Given the description of an element on the screen output the (x, y) to click on. 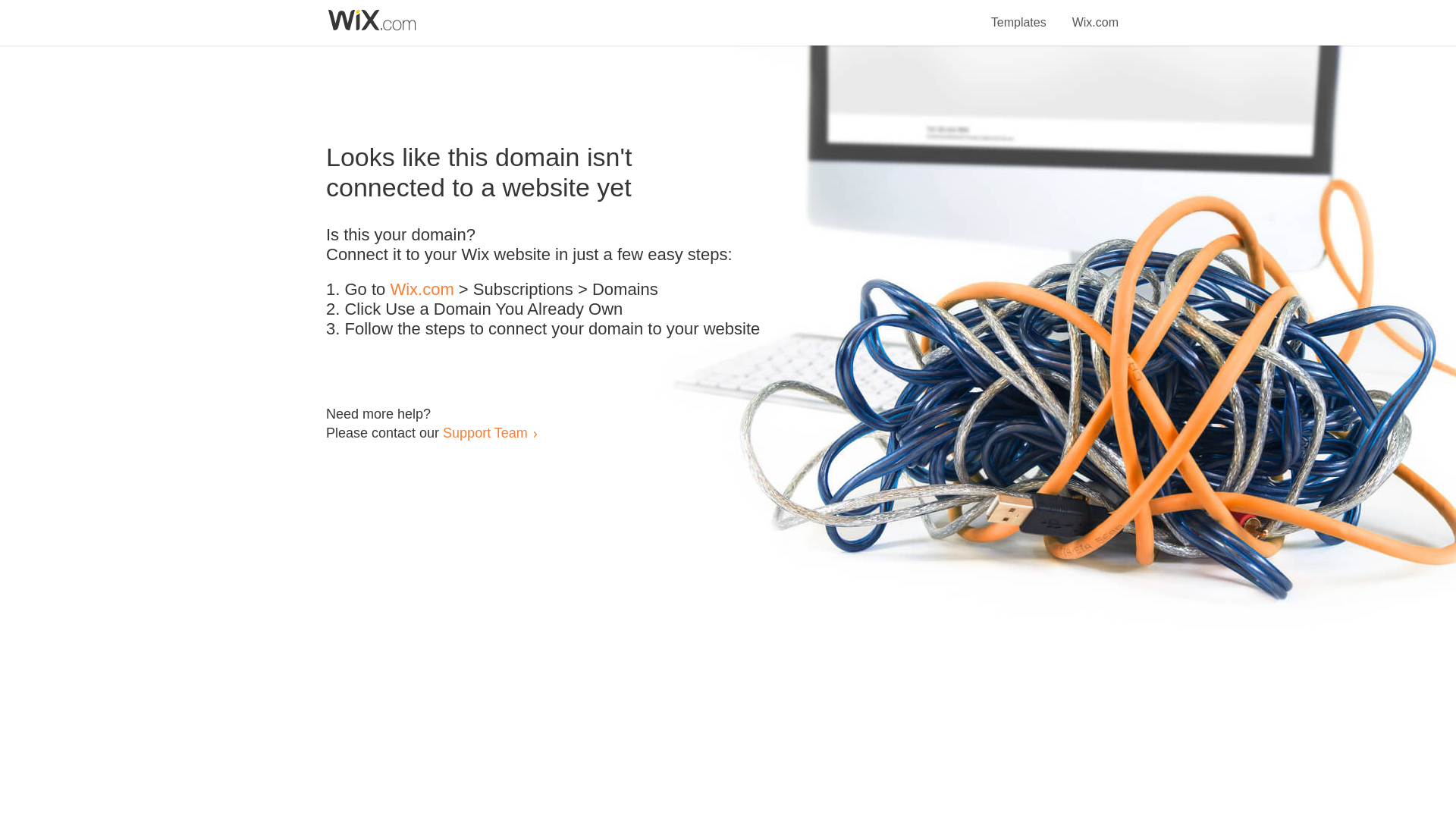
Templates (1018, 14)
Wix.com (1095, 14)
Wix.com (421, 289)
Support Team (484, 432)
